Given the description of an element on the screen output the (x, y) to click on. 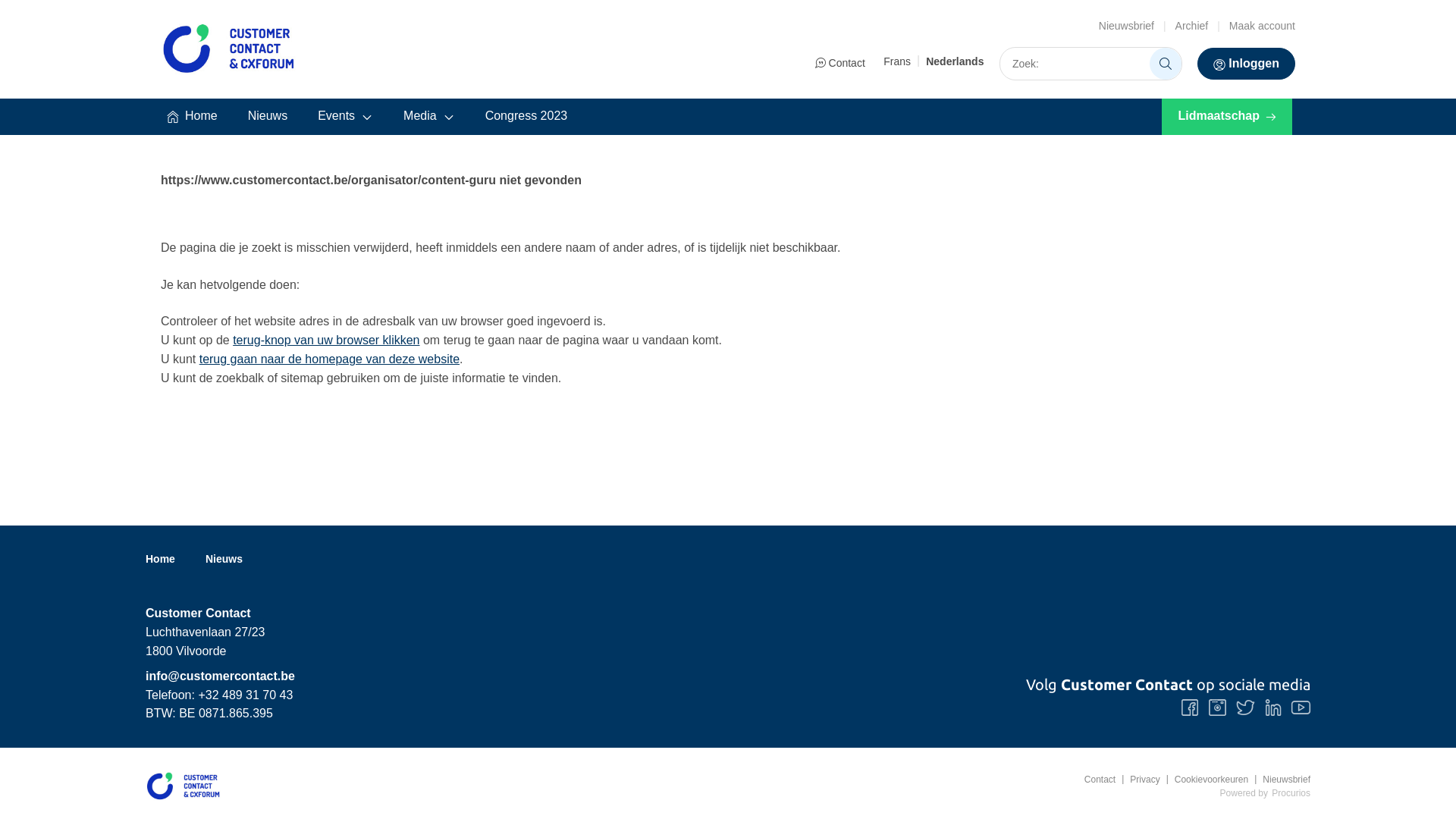
Nieuwsbrief Element type: text (1279, 779)
terug gaan naar de homepage van deze website Element type: text (329, 358)
Congress 2023 Element type: text (526, 116)
Cookievoorkeuren Element type: text (1204, 779)
Contact Element type: text (1099, 779)
Events Element type: text (345, 116)
Zoek: Element type: text (1165, 63)
Nederlands Element type: text (954, 61)
Privacy Element type: text (1137, 779)
Maak account Element type: text (1262, 25)
Volg ons LinkedIn Element type: text (1273, 708)
Contact Element type: text (840, 63)
Nieuwsbrief Element type: text (1126, 25)
Volg ons Instagram Element type: text (1217, 708)
Archief Element type: text (1191, 25)
Nieuws Element type: text (267, 116)
Home Element type: text (191, 116)
Volg ons Youtube Element type: text (1300, 708)
Lidmaatschap Element type: text (1226, 116)
Terug naar homepagina Element type: hover (183, 785)
Media Element type: text (429, 116)
Volg ons Facebook Element type: text (1189, 708)
terug-knop van uw browser klikken Element type: text (325, 339)
Frans Element type: text (896, 61)
Procurios Element type: text (1290, 793)
Volg ons Twitter Element type: text (1245, 708)
Terug naar homepagina Element type: hover (228, 49)
Nieuws Element type: text (229, 558)
Home Element type: text (166, 558)
Inloggen Element type: text (1246, 63)
